Given the description of an element on the screen output the (x, y) to click on. 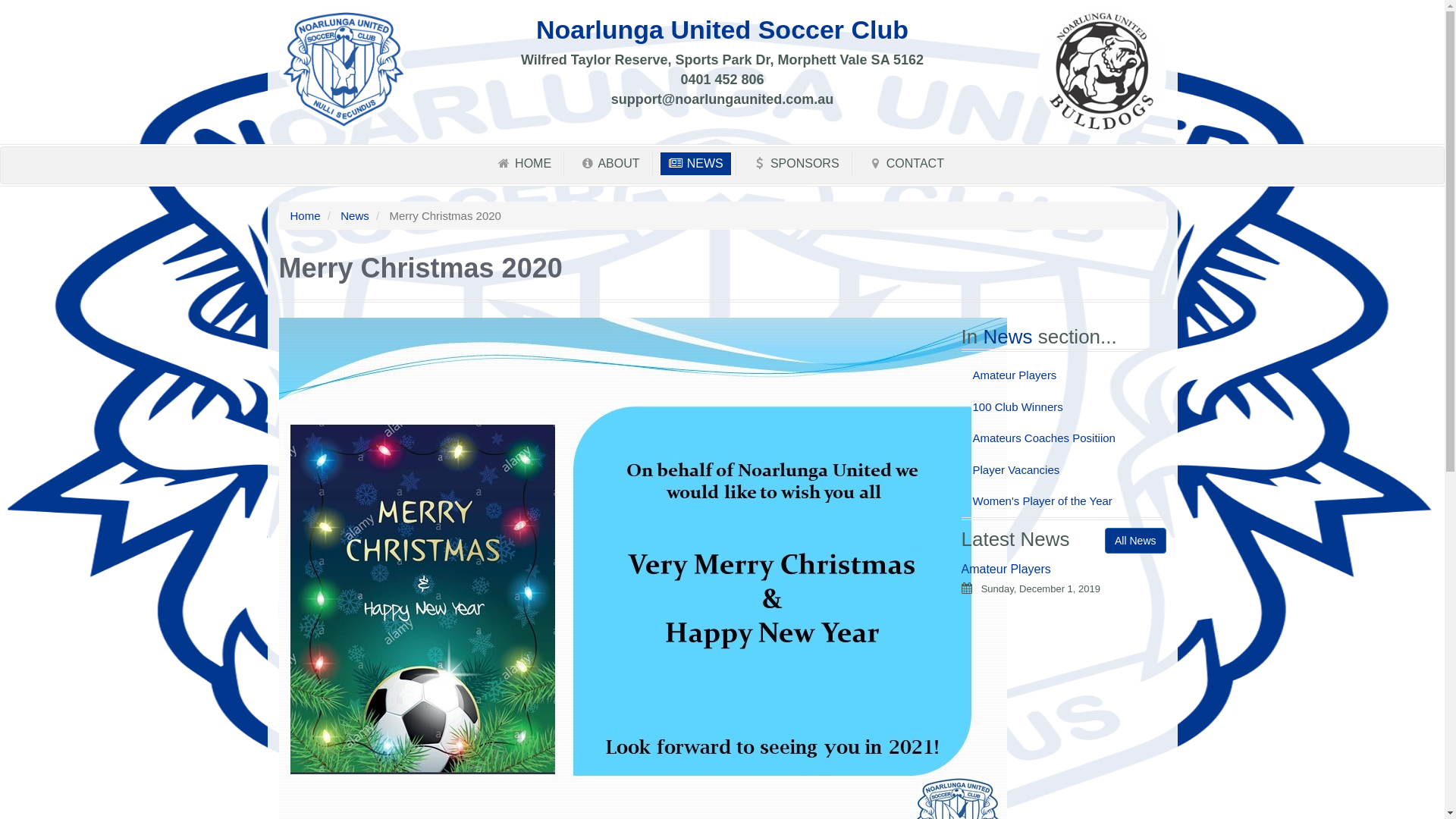
Player Vacancies Element type: text (1063, 469)
Noarlunga United Soccer Club Element type: text (722, 29)
NEWS Element type: text (695, 163)
News Element type: text (354, 215)
SPONSORS Element type: text (795, 163)
CONTACT Element type: text (905, 163)
Noarlunga United Soccer Club Element type: hover (1101, 70)
ABOUT Element type: text (608, 163)
Amateurs Coaches Positiion Element type: text (1063, 437)
100 Club Winners Element type: text (1063, 406)
Noarlunga United Soccer Club Element type: hover (343, 68)
Home Element type: text (304, 215)
Amateur Players Element type: text (1063, 374)
HOME Element type: text (523, 163)
News Element type: text (1009, 336)
Women's Player of the Year Element type: text (1063, 500)
Amateur Players Element type: text (1006, 568)
All News Element type: text (1134, 540)
